Given the description of an element on the screen output the (x, y) to click on. 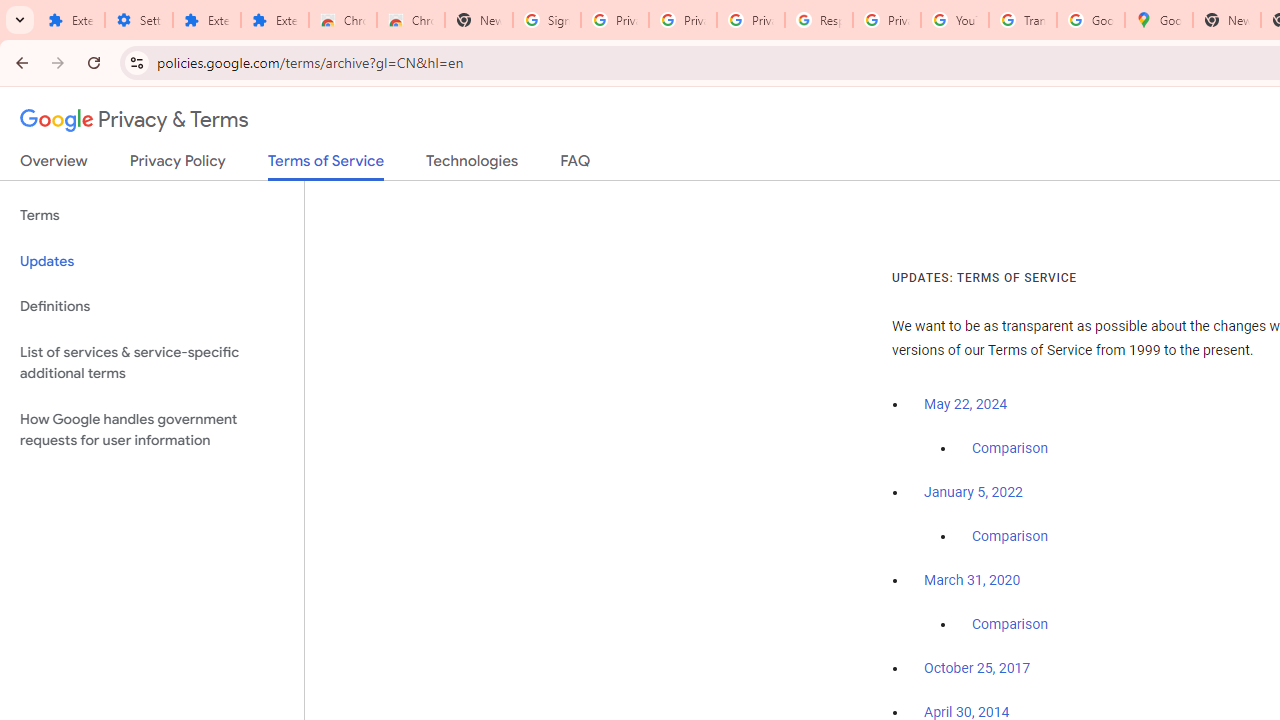
Sign in - Google Accounts (547, 20)
Extensions (70, 20)
Settings (138, 20)
Terms of Service (326, 166)
Chrome Web Store (342, 20)
New Tab (479, 20)
How Google handles government requests for user information (152, 429)
March 31, 2020 (972, 580)
FAQ (575, 165)
